Given the description of an element on the screen output the (x, y) to click on. 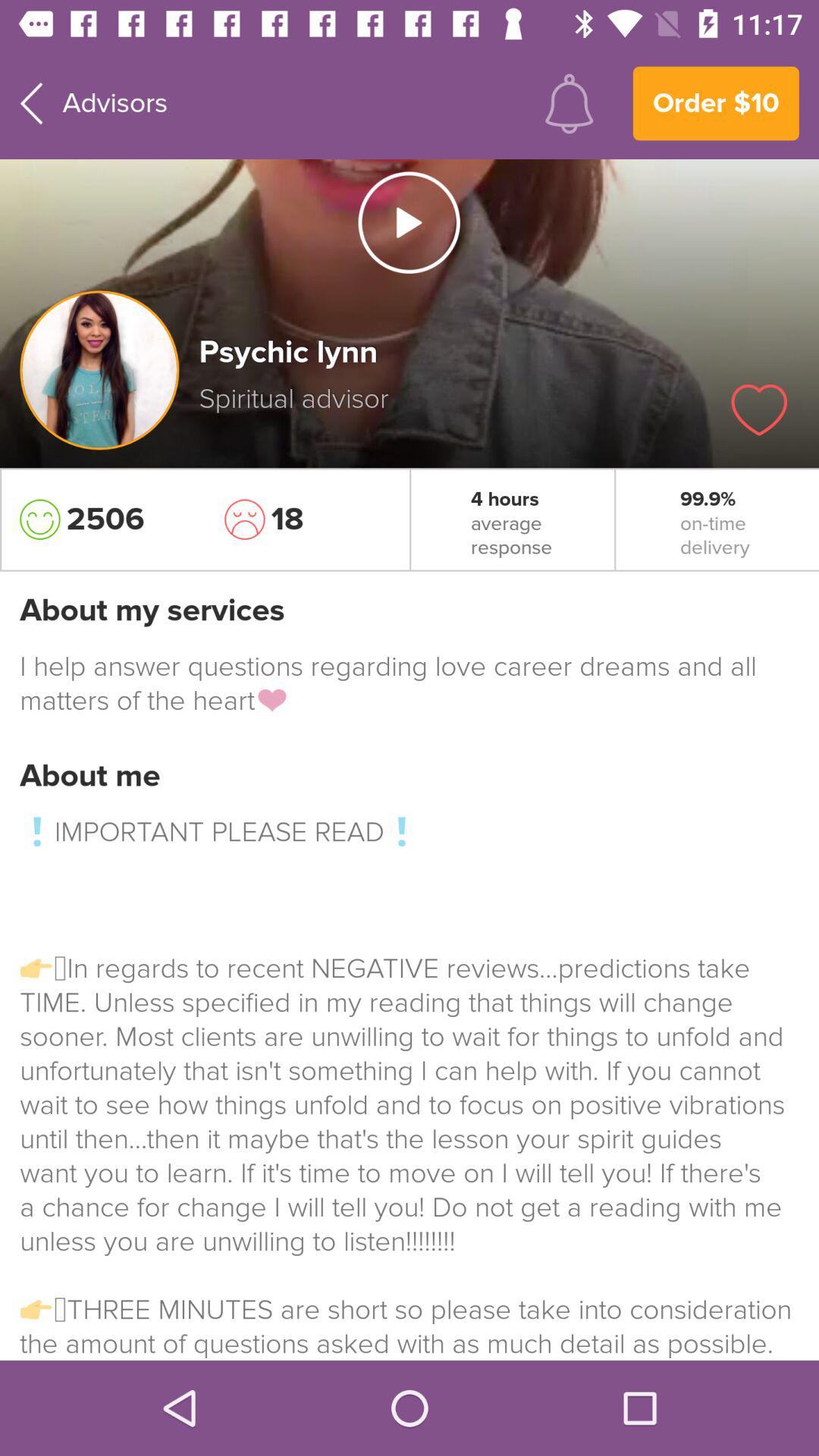
heart the persons page (759, 409)
